Given the description of an element on the screen output the (x, y) to click on. 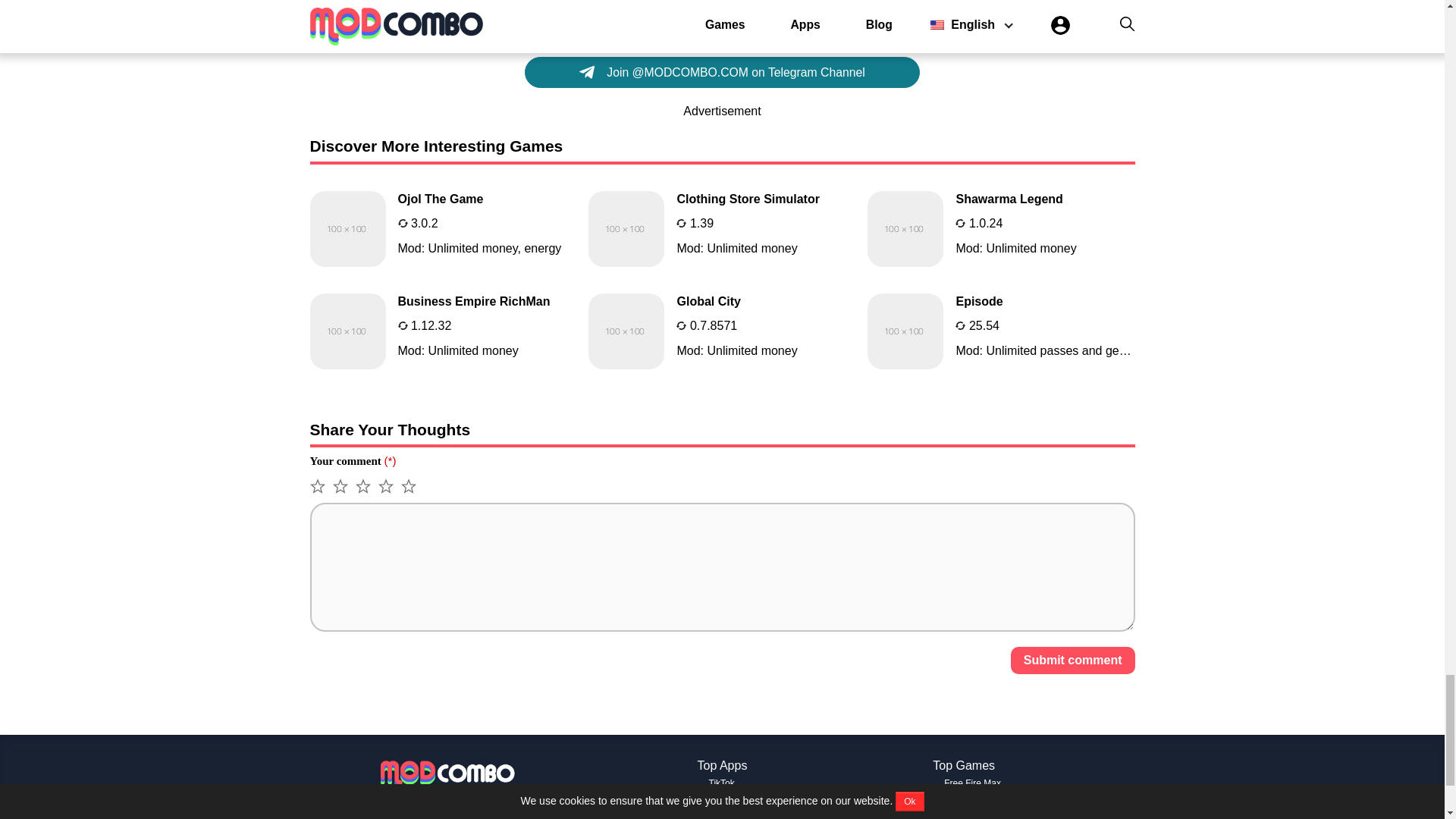
Episode (1000, 331)
Shadow Fight 2 (975, 817)
Shawarma Legend (1000, 228)
CapCut (724, 817)
Global City (722, 331)
Ojol The Game (442, 228)
VSCO (722, 801)
Free Fire Max (972, 783)
Pokemon Unite (974, 801)
Clothing Store Simulator (722, 228)
